Given the description of an element on the screen output the (x, y) to click on. 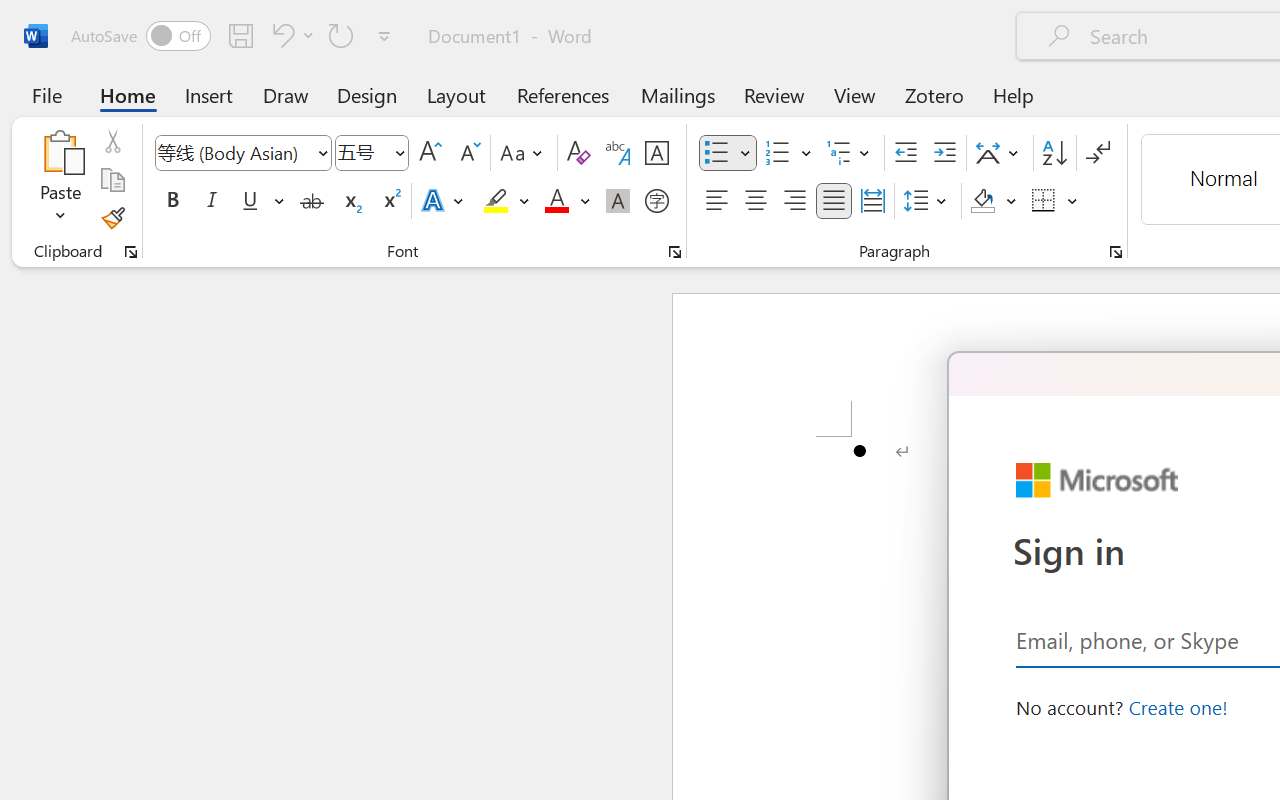
Undo Bullet Default (280, 35)
